Given the description of an element on the screen output the (x, y) to click on. 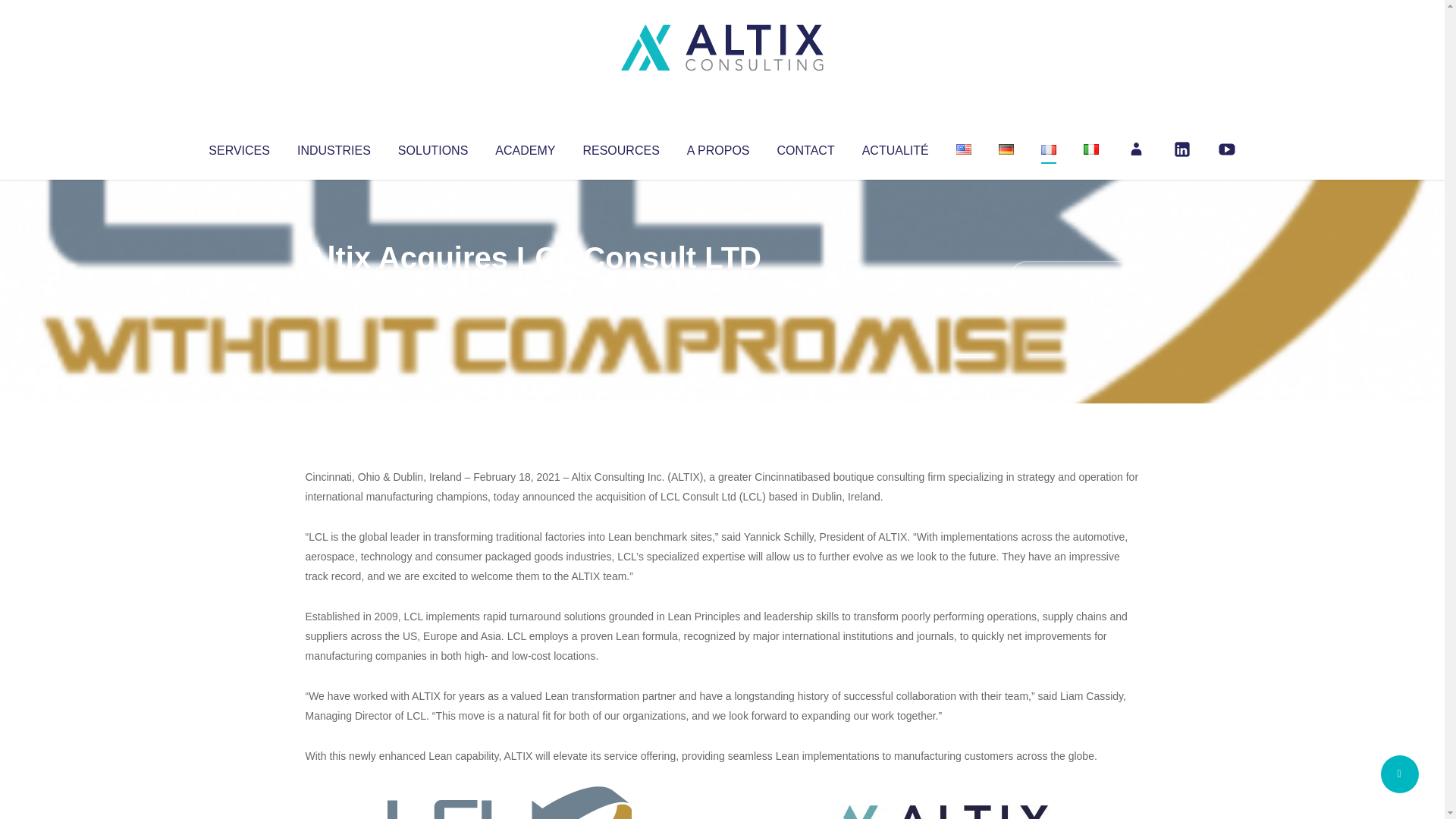
Altix (333, 287)
ACADEMY (524, 146)
Articles par Altix (333, 287)
SERVICES (238, 146)
No Comments (1073, 278)
RESOURCES (620, 146)
Uncategorized (530, 287)
SOLUTIONS (432, 146)
INDUSTRIES (334, 146)
A PROPOS (718, 146)
